Given the description of an element on the screen output the (x, y) to click on. 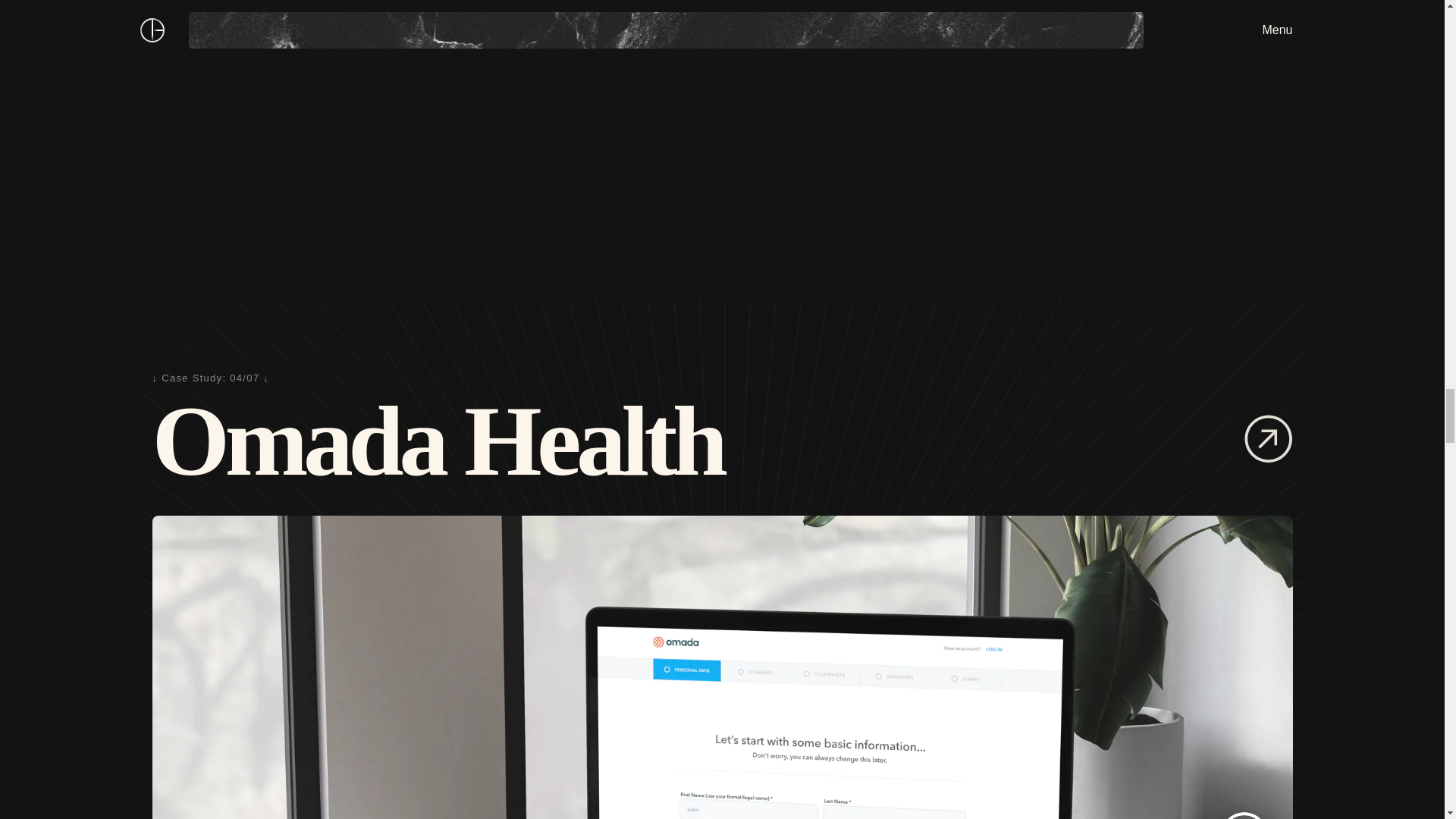
View Project: Omada Health (1267, 440)
